Given the description of an element on the screen output the (x, y) to click on. 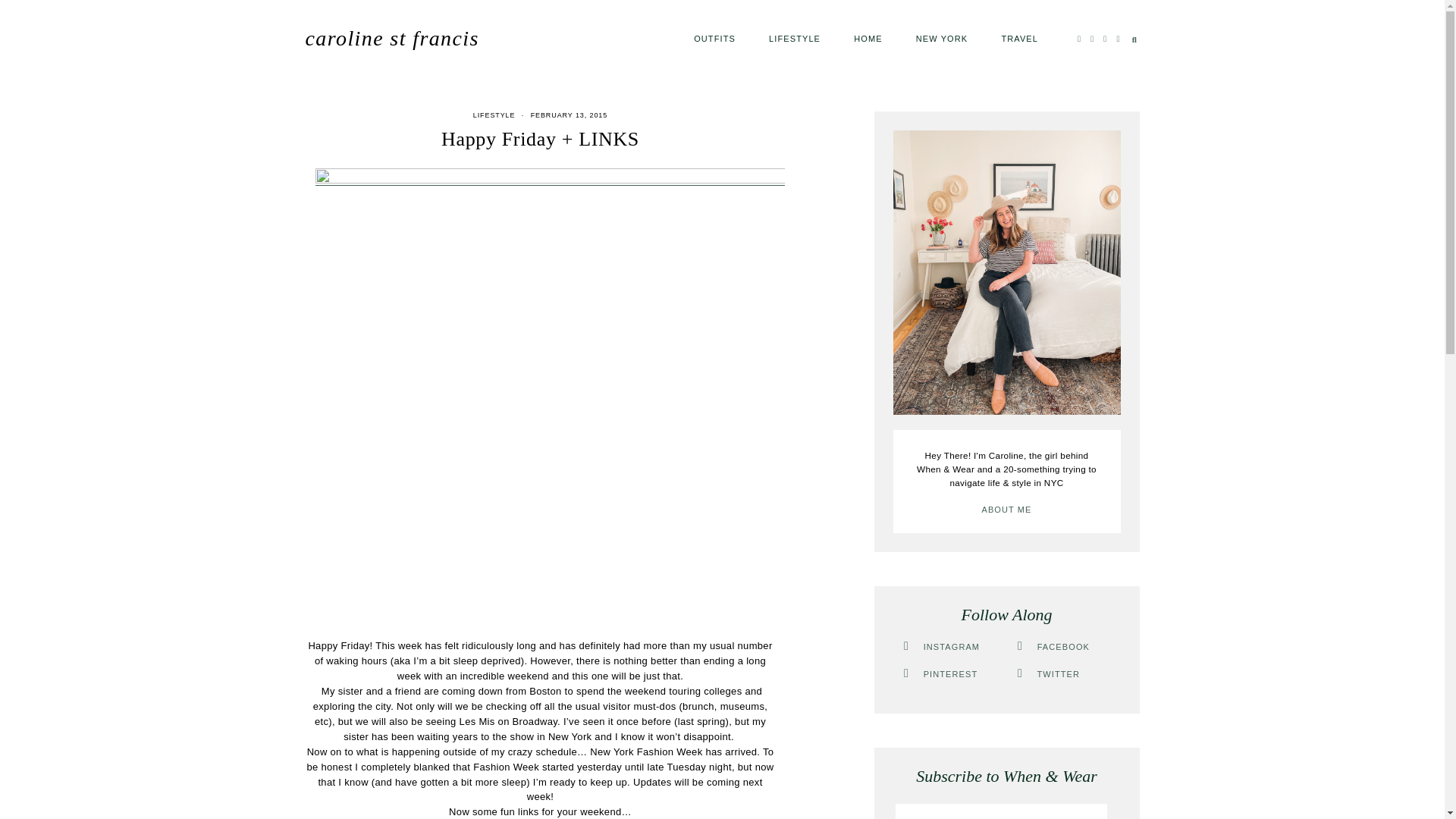
View all posts in LIFESTYLE (494, 114)
caroline st francis (391, 37)
LIFESTYLE (794, 38)
TRAVEL (1019, 38)
LIFESTYLE (494, 114)
NEW YORK (941, 38)
HOME (867, 38)
OUTFITS (714, 38)
